Given the description of an element on the screen output the (x, y) to click on. 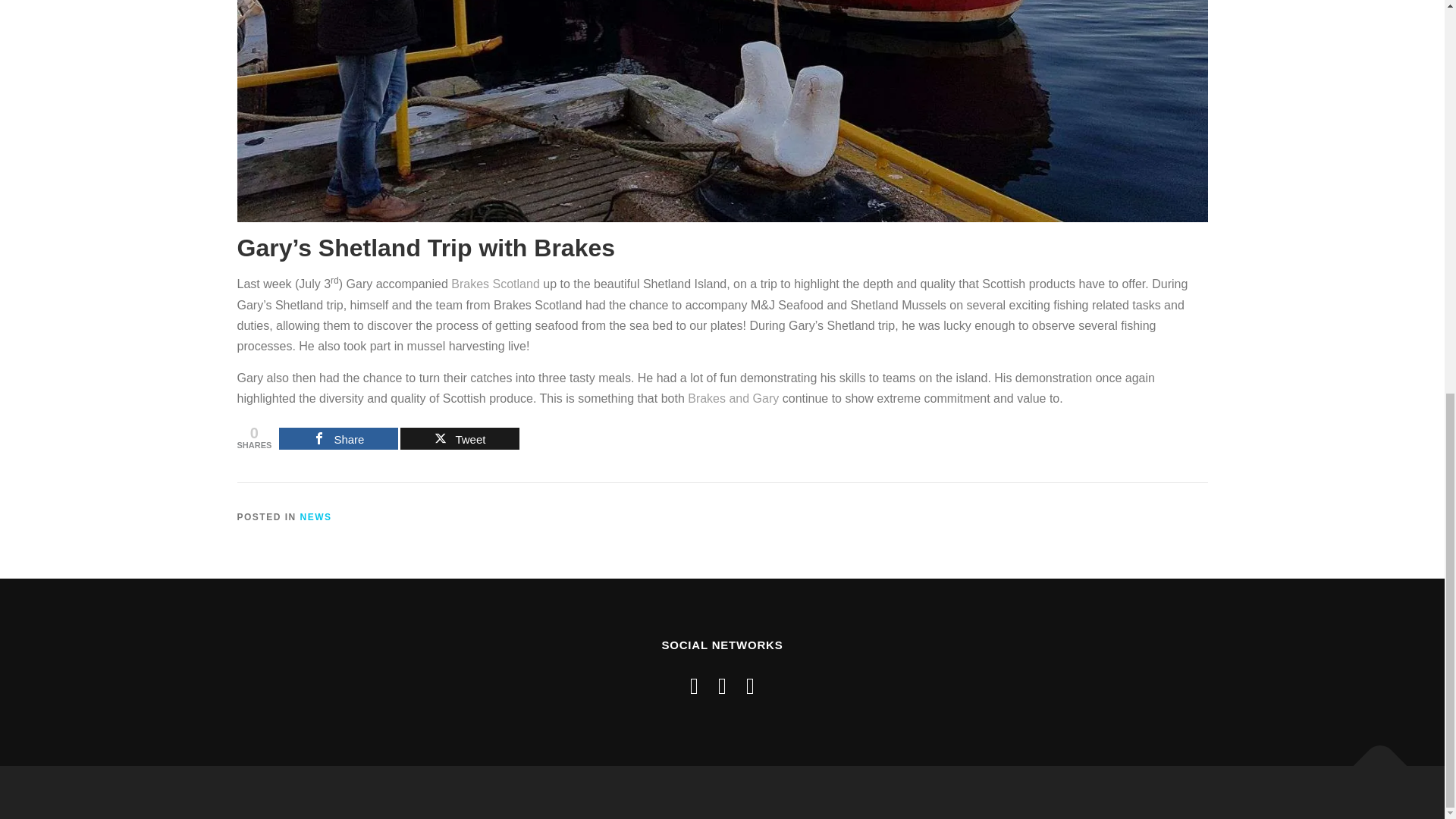
Brakes Scotland (495, 283)
Back To Top (1372, 758)
Brakes and Gary (732, 398)
NEWS (315, 516)
Tweet (459, 438)
Share (338, 438)
